Given the description of an element on the screen output the (x, y) to click on. 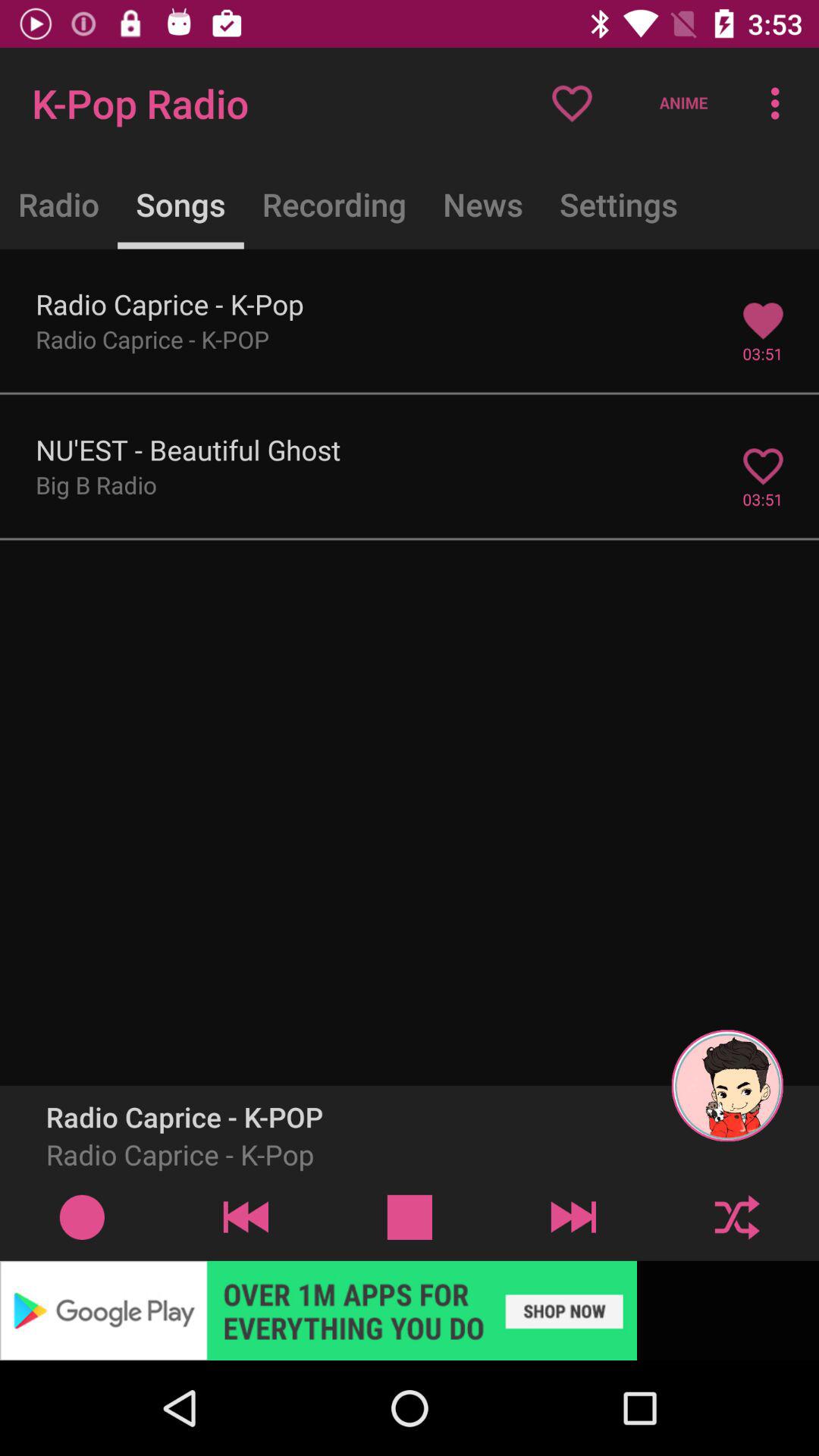
radio caprice (81, 1216)
